Given the description of an element on the screen output the (x, y) to click on. 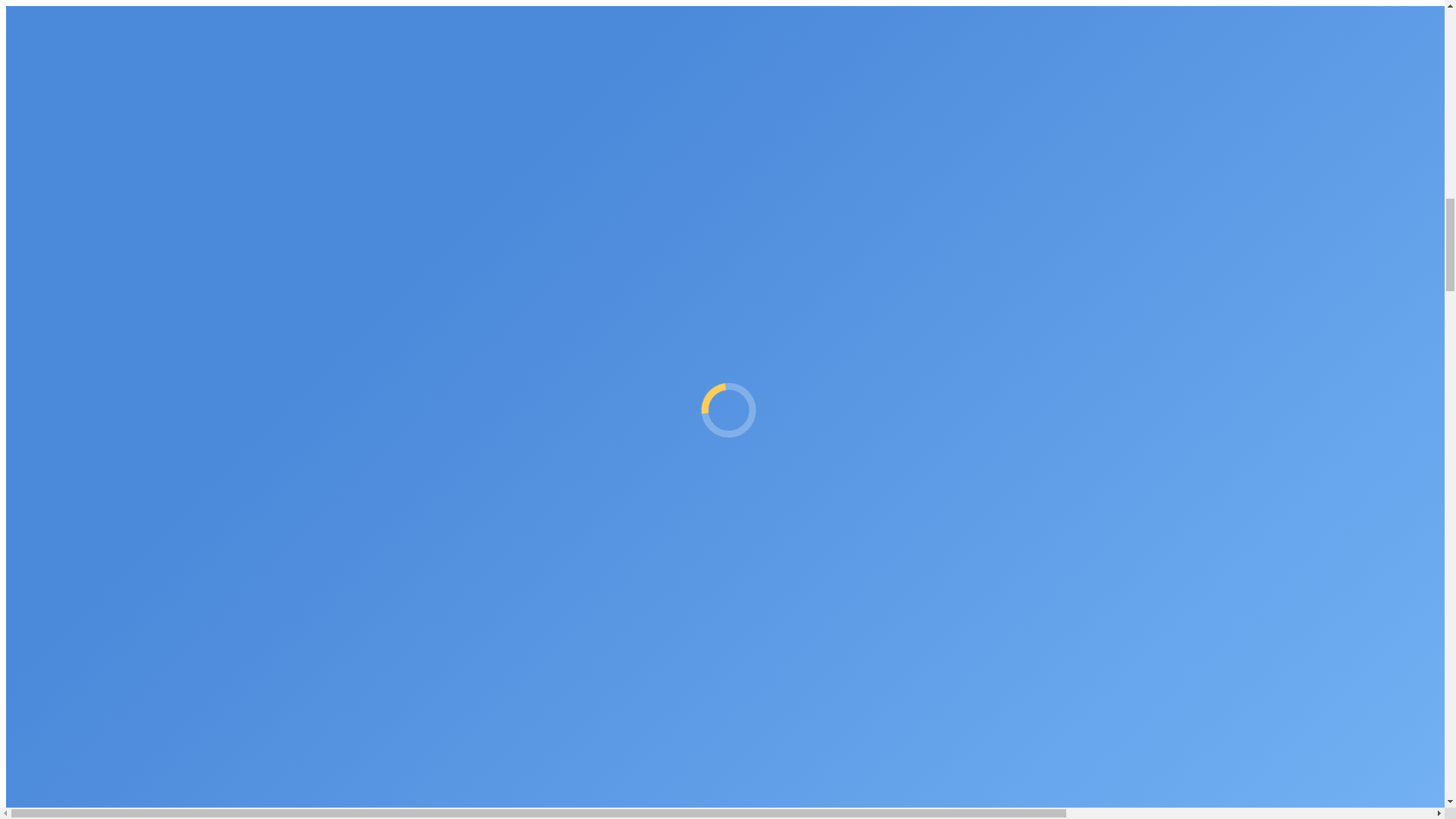
View all posts by Ralph Malachowski (62, 592)
10:00 am (160, 592)
Read more (32, 644)
August 21, 2024 (160, 592)
By Ralph Malachowski (62, 592)
